Given the description of an element on the screen output the (x, y) to click on. 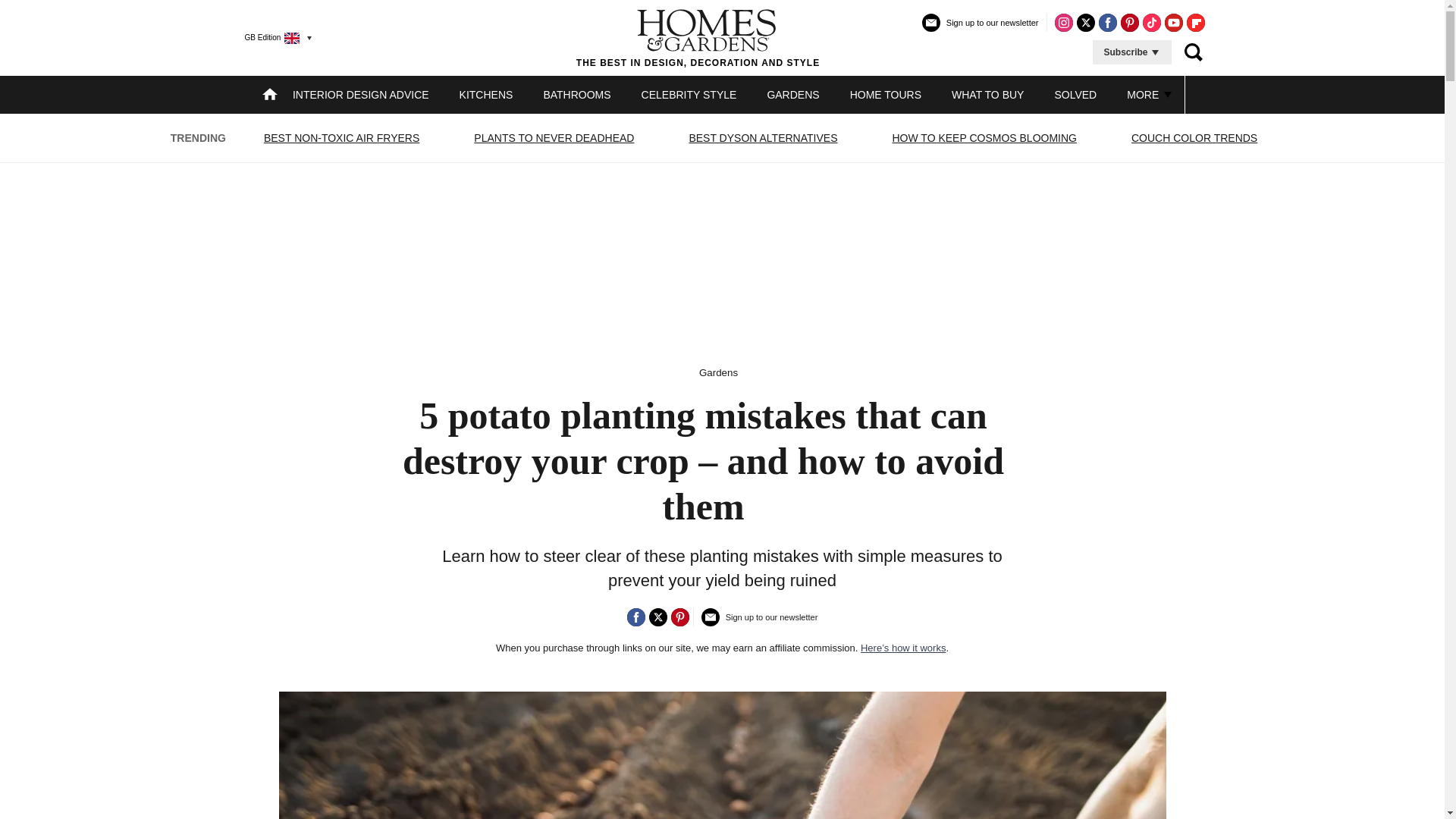
THE BEST IN DESIGN, DECORATION AND STYLE (697, 37)
HOW TO KEEP COSMOS BLOOMING (983, 137)
WHAT TO BUY (987, 94)
SOLVED (1075, 94)
COUCH COLOR TRENDS (1193, 137)
PLANTS TO NEVER DEADHEAD (553, 137)
Gardens (718, 372)
GB Edition (271, 37)
BEST DYSON ALTERNATIVES (762, 137)
HOME TOURS (885, 94)
CELEBRITY STYLE (689, 94)
BEST NON-TOXIC AIR FRYERS (342, 137)
Sign up to our newsletter (980, 28)
KITCHENS (486, 94)
GARDENS (792, 94)
